Given the description of an element on the screen output the (x, y) to click on. 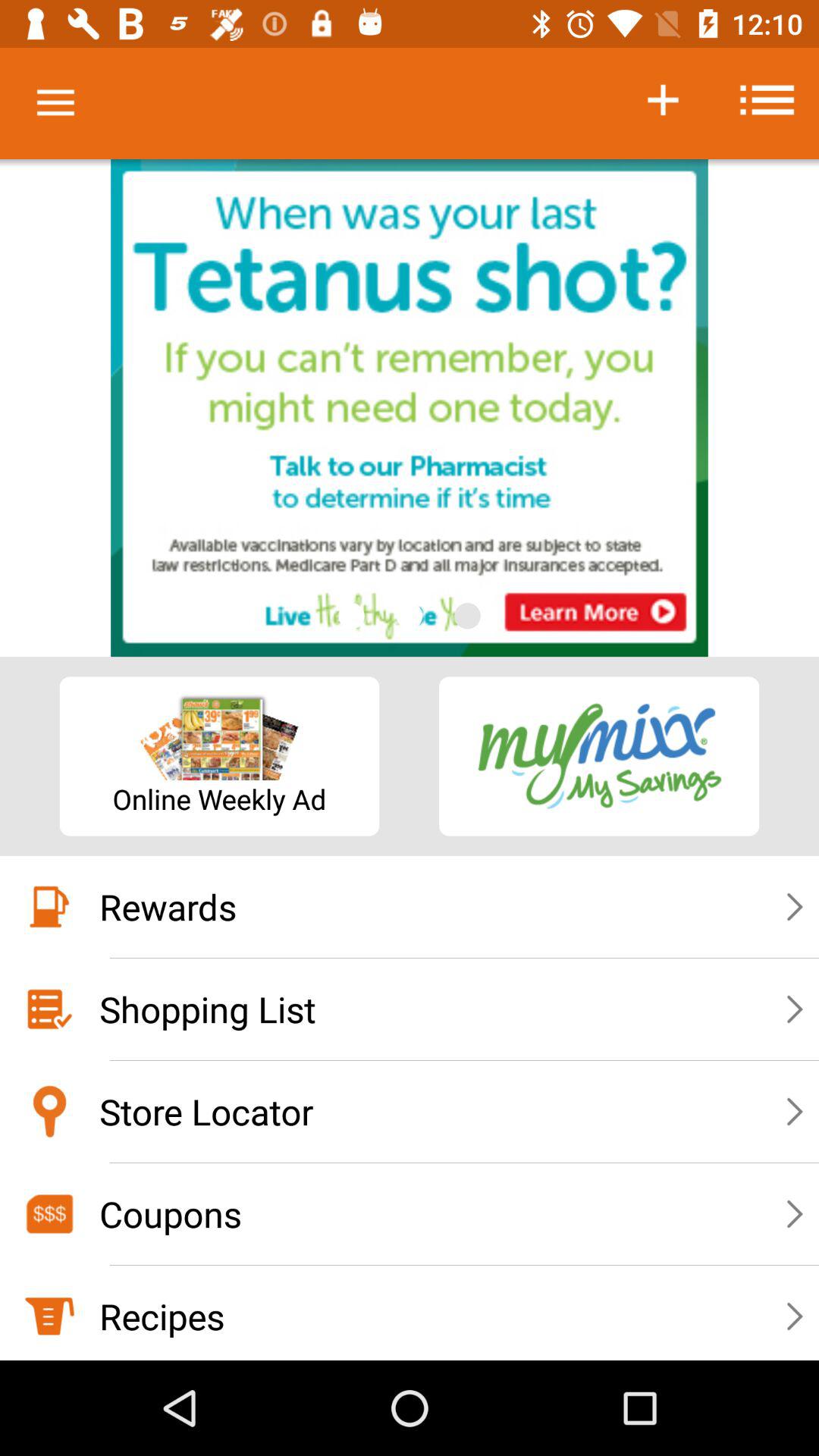
advertisement (409, 407)
